Given the description of an element on the screen output the (x, y) to click on. 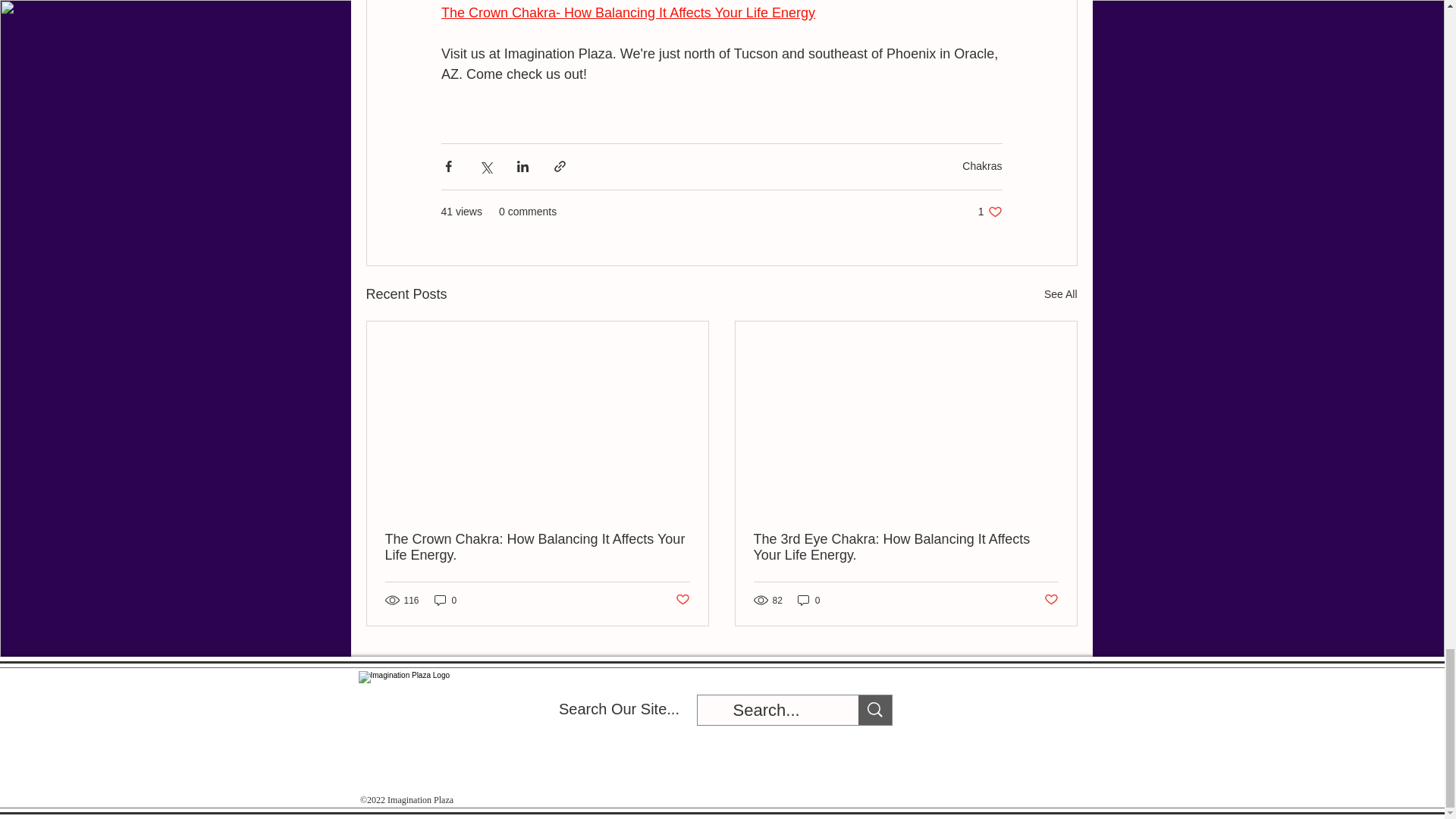
Post not marked as liked (681, 600)
See All (990, 211)
The Crown Chakra: How Balancing It Affects Your Life Energy. (1060, 294)
The Crown Chakra- How Balancing It Affects Your Life Energy (537, 547)
0 (628, 12)
0 (445, 599)
Post not marked as liked (809, 599)
Chakras (1050, 600)
